Given the description of an element on the screen output the (x, y) to click on. 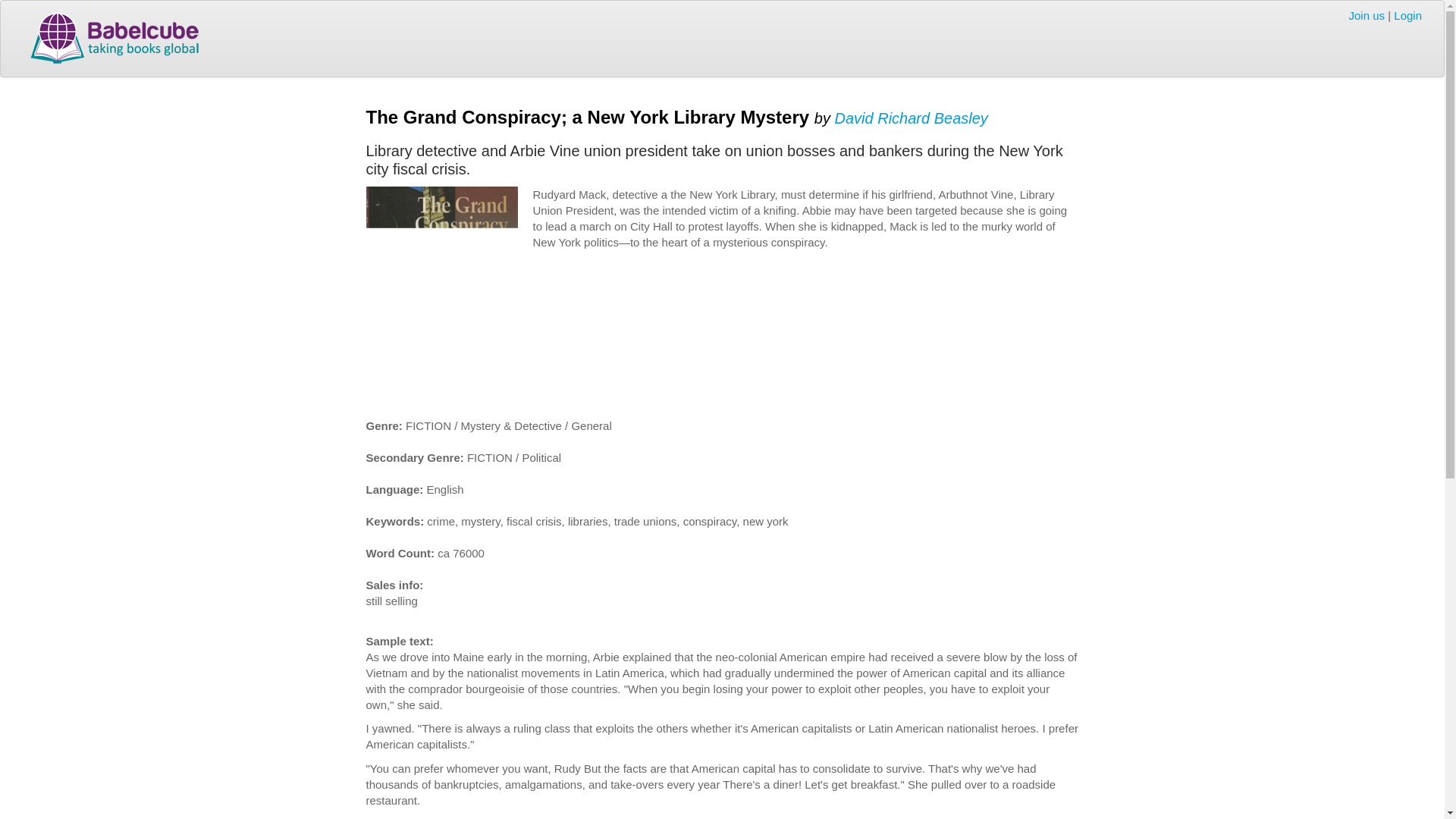
David Richard Beasley (910, 117)
Login (1407, 15)
Join us (1367, 15)
